Given the description of an element on the screen output the (x, y) to click on. 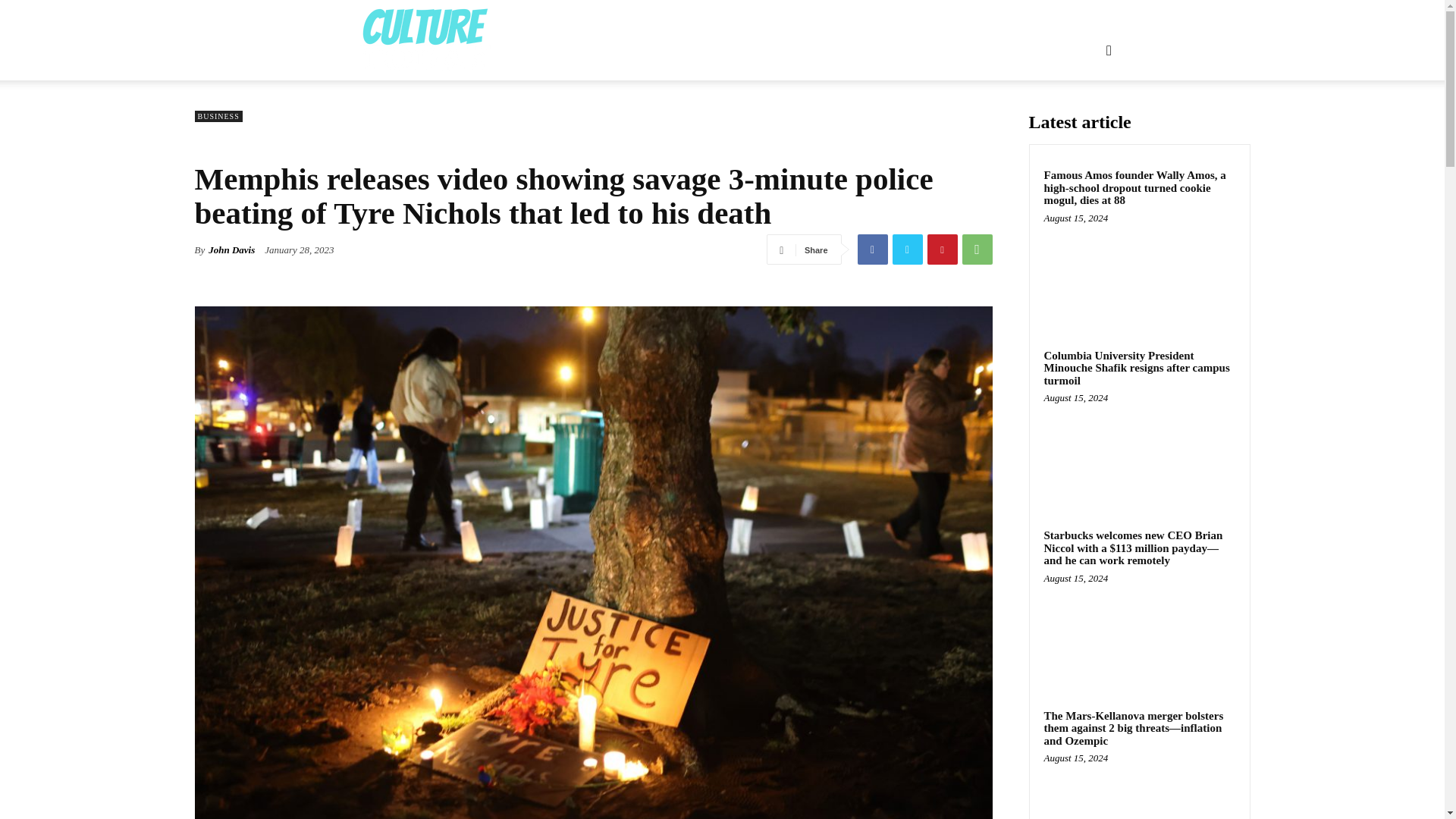
BUSINESS (745, 50)
TRENDING (962, 50)
Twitter (906, 249)
Pinterest (941, 249)
Search (1085, 122)
BUSINESS (217, 116)
CULTURE (818, 50)
John Davis (231, 249)
WhatsApp (975, 249)
